Given the description of an element on the screen output the (x, y) to click on. 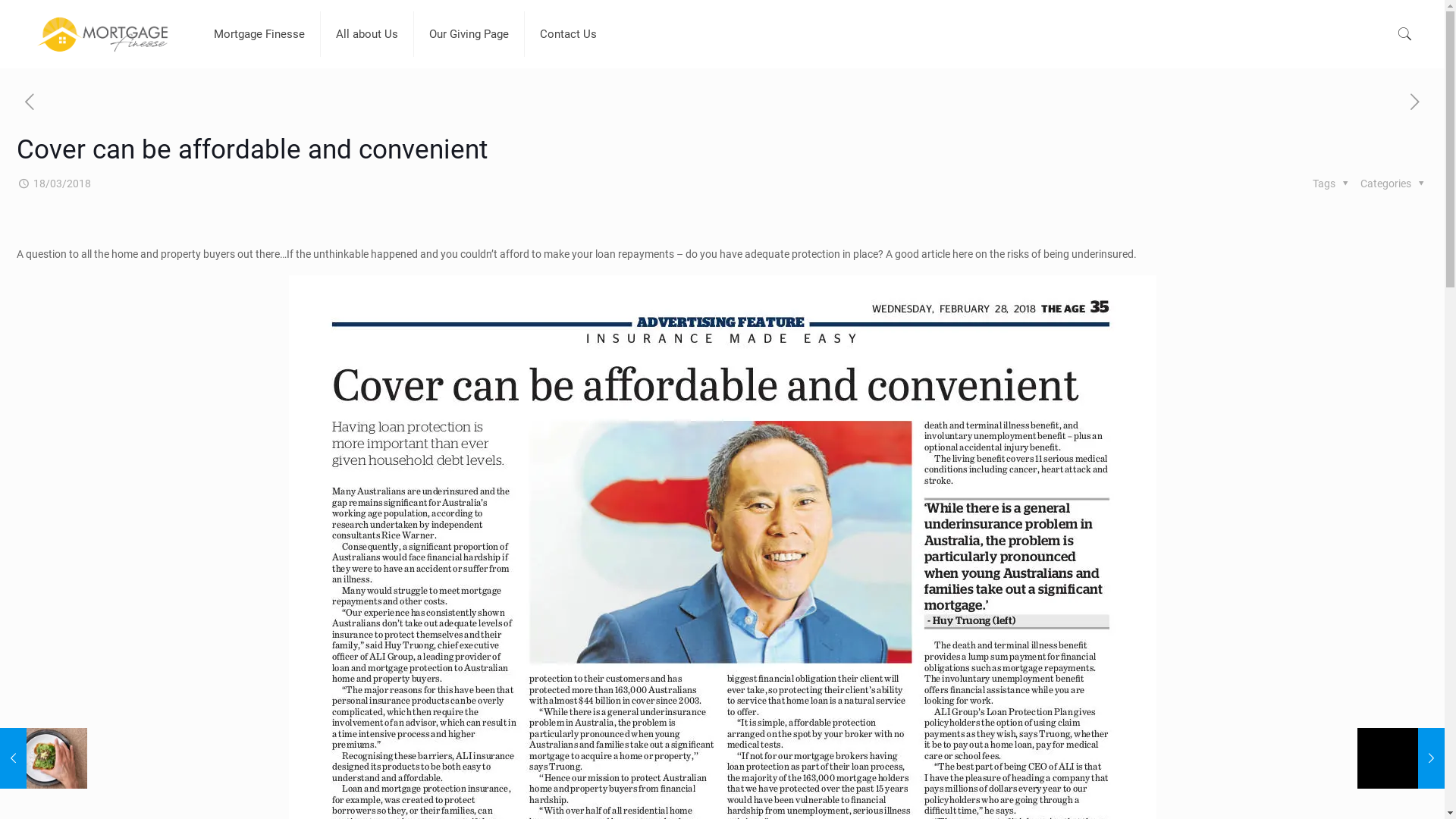
All about Us Element type: text (367, 34)
Our Giving Page Element type: text (469, 34)
Mortgage Finesse Element type: text (259, 34)
Contact Us Element type: text (567, 34)
Mortgage Finesse Blog Element type: hover (103, 34)
